Given the description of an element on the screen output the (x, y) to click on. 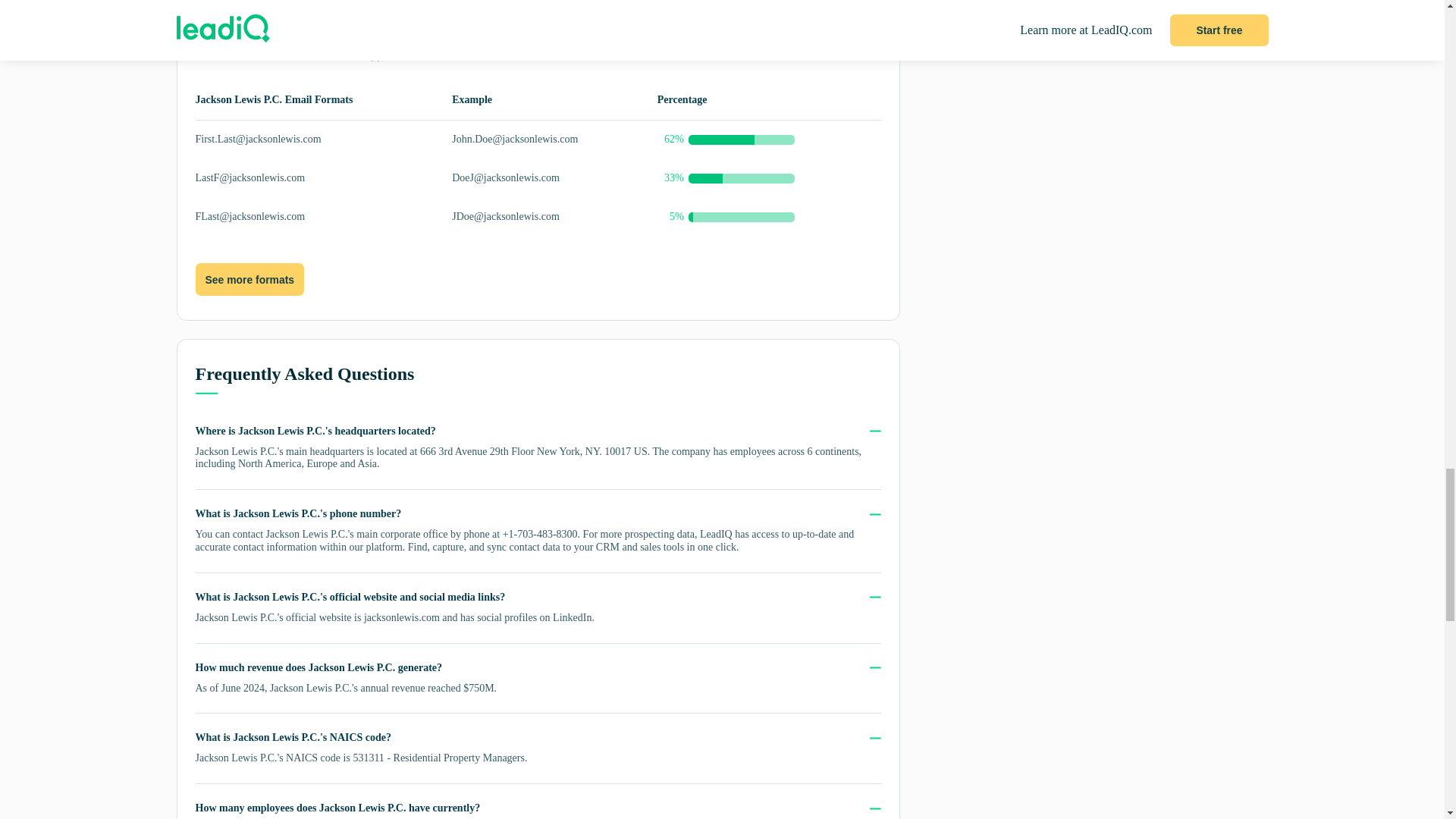
LinkedIn (572, 617)
See more formats (249, 280)
jacksonlewis.com (401, 617)
See more formats (249, 278)
